Given the description of an element on the screen output the (x, y) to click on. 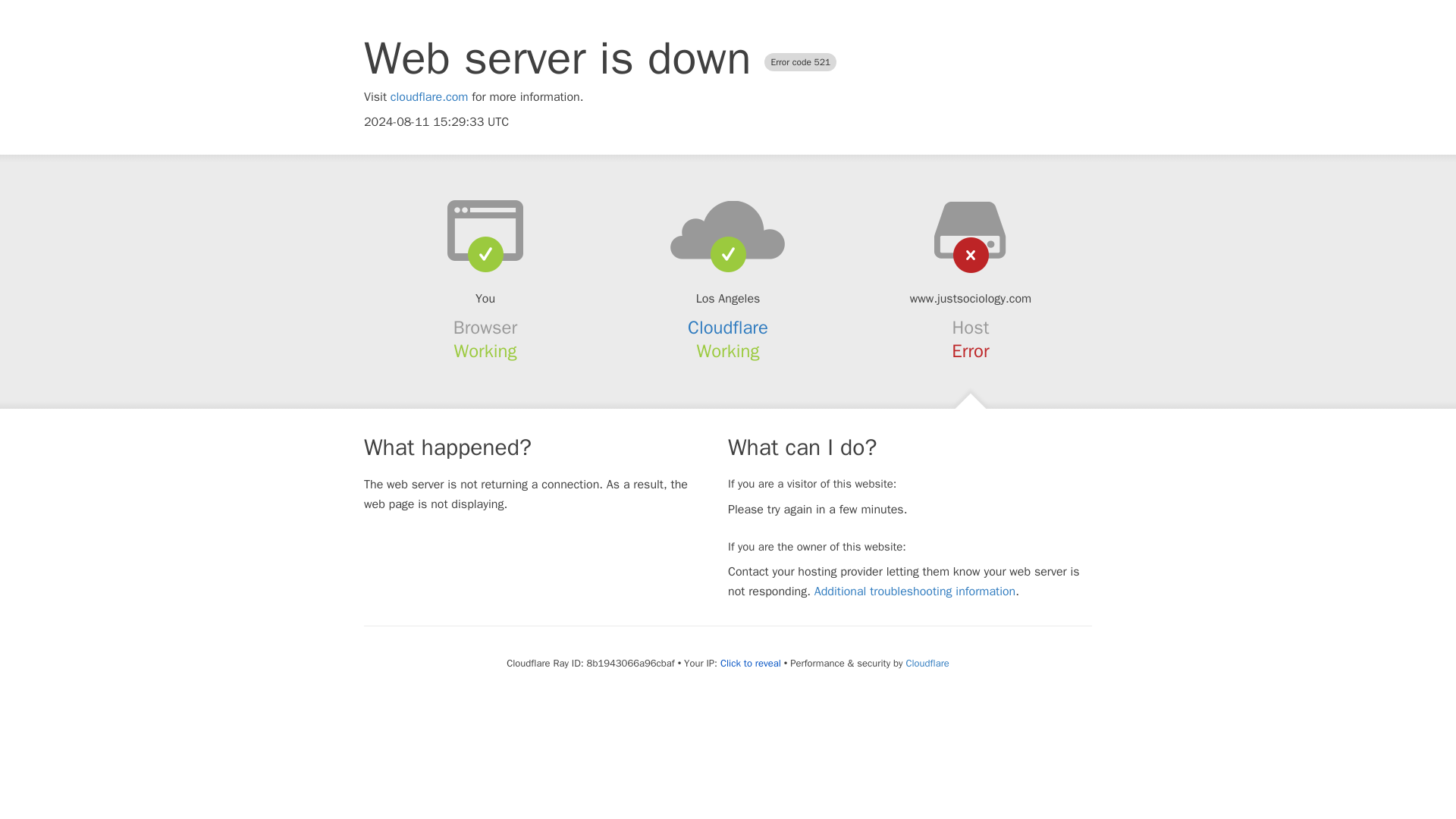
Additional troubleshooting information (913, 590)
Cloudflare (927, 662)
cloudflare.com (429, 96)
Click to reveal (750, 663)
Cloudflare (727, 327)
